Given the description of an element on the screen output the (x, y) to click on. 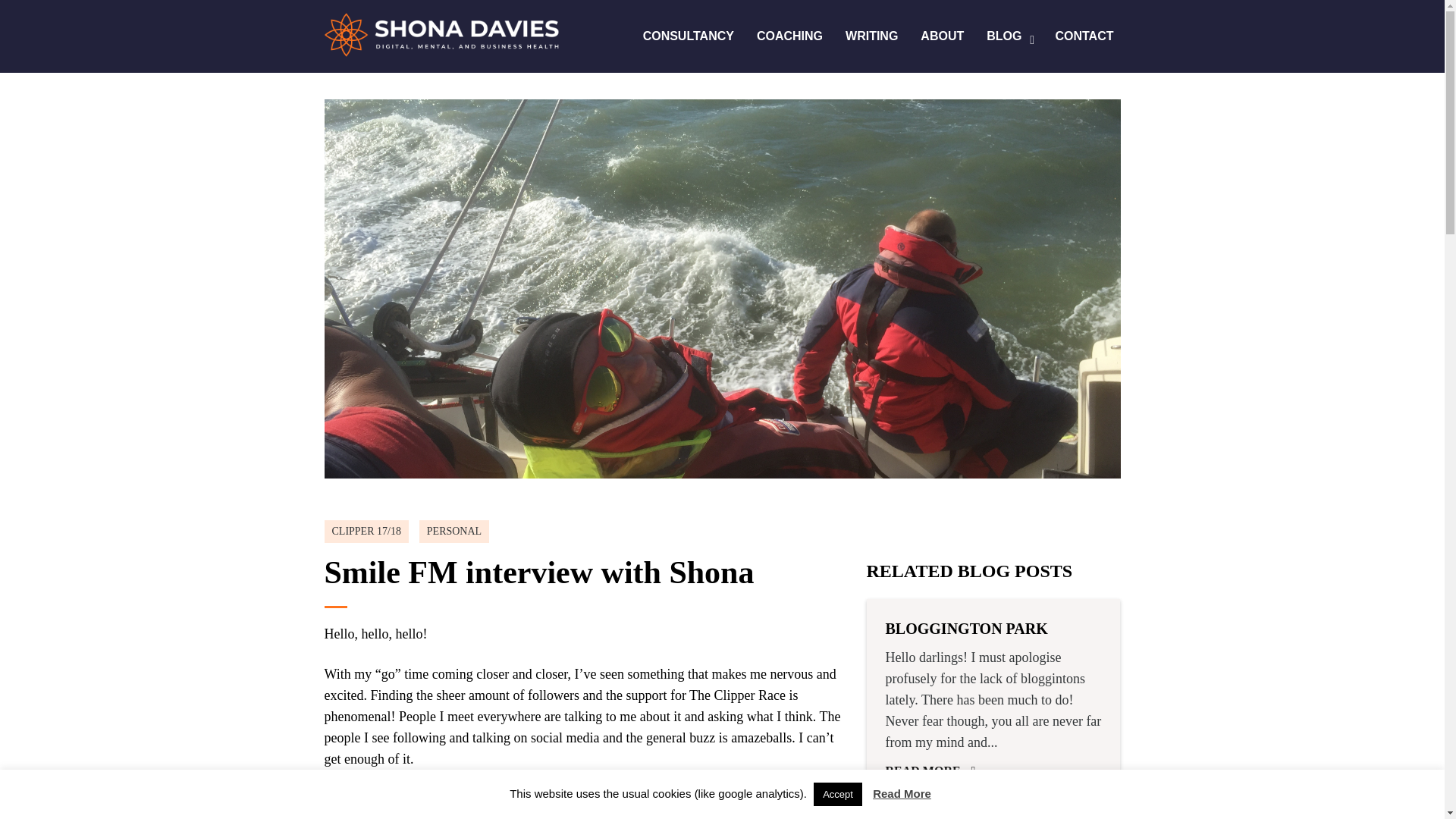
COACHING (789, 37)
WRITING (871, 37)
ABOUT (942, 37)
CONSULTANCY (688, 37)
CONTACT (1083, 37)
BLOG (1009, 37)
PERSONAL (457, 530)
